Given the description of an element on the screen output the (x, y) to click on. 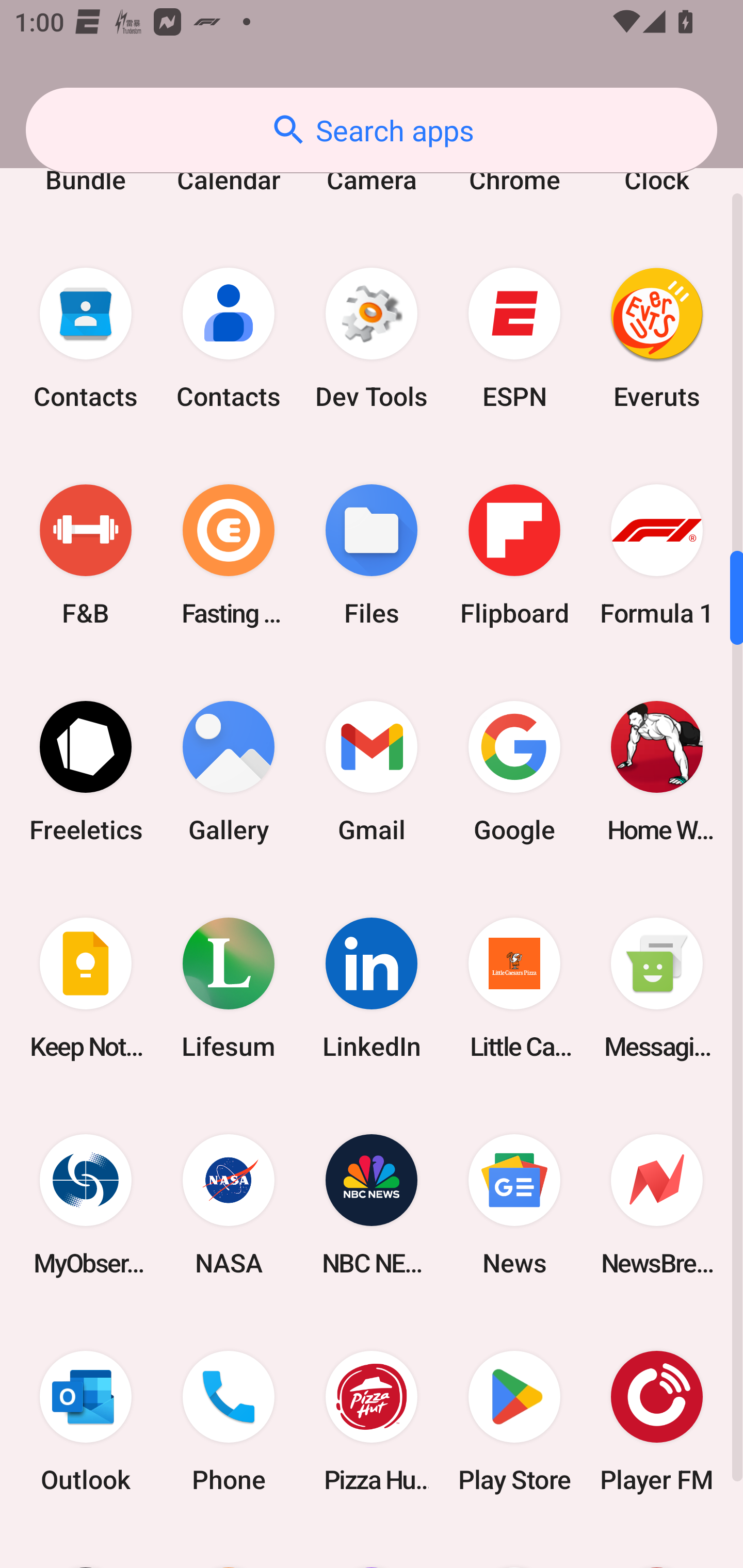
  Search apps (371, 130)
Contacts (85, 338)
Contacts (228, 338)
Dev Tools (371, 338)
ESPN (514, 338)
Everuts (656, 338)
F&B (85, 554)
Fasting Coach (228, 554)
Files (371, 554)
Flipboard (514, 554)
Formula 1 (656, 554)
Freeletics (85, 771)
Gallery (228, 771)
Gmail (371, 771)
Google (514, 771)
Home Workout (656, 771)
Keep Notes (85, 987)
Lifesum (228, 987)
LinkedIn (371, 987)
Little Caesars Pizza (514, 987)
Messaging (656, 987)
MyObservatory (85, 1204)
NASA (228, 1204)
NBC NEWS (371, 1204)
News (514, 1204)
NewsBreak (656, 1204)
Outlook (85, 1421)
Phone (228, 1421)
Pizza Hut HK & Macau (371, 1421)
Play Store (514, 1421)
Player FM (656, 1421)
